Given the description of an element on the screen output the (x, y) to click on. 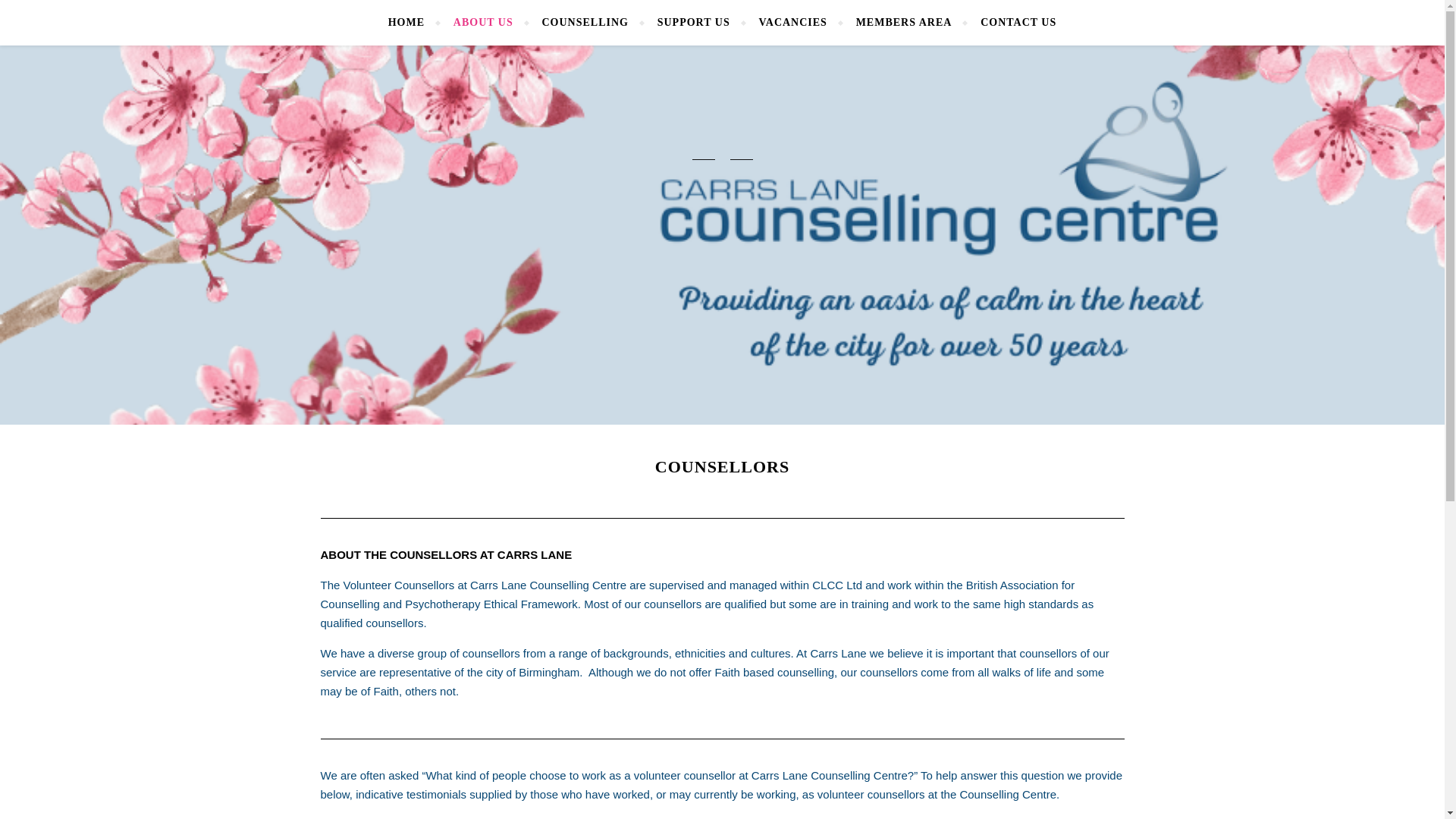
HOME (413, 22)
ABOUT US (483, 22)
CONTACT US (1012, 22)
SUPPORT US (693, 22)
COUNSELLING (585, 22)
VACANCIES (792, 22)
MEMBERS AREA (904, 22)
